Given the description of an element on the screen output the (x, y) to click on. 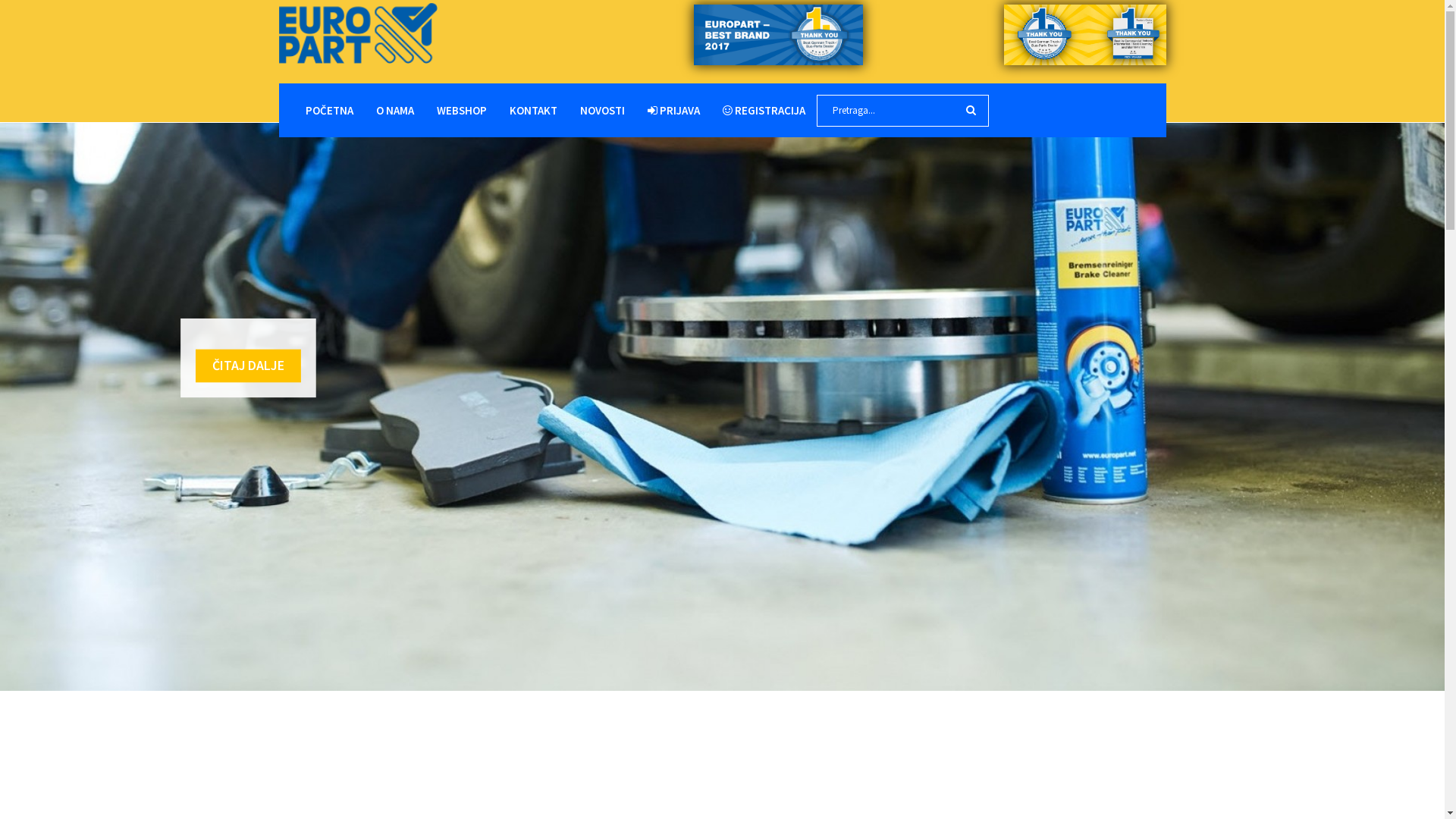
O NAMA Element type: text (394, 110)
WEBSHOP Element type: text (460, 110)
KONTAKT Element type: text (532, 110)
PRIJAVA Element type: text (672, 110)
NOVOSTI Element type: text (602, 110)
REGISTRACIJA Element type: text (763, 110)
